Given the description of an element on the screen output the (x, y) to click on. 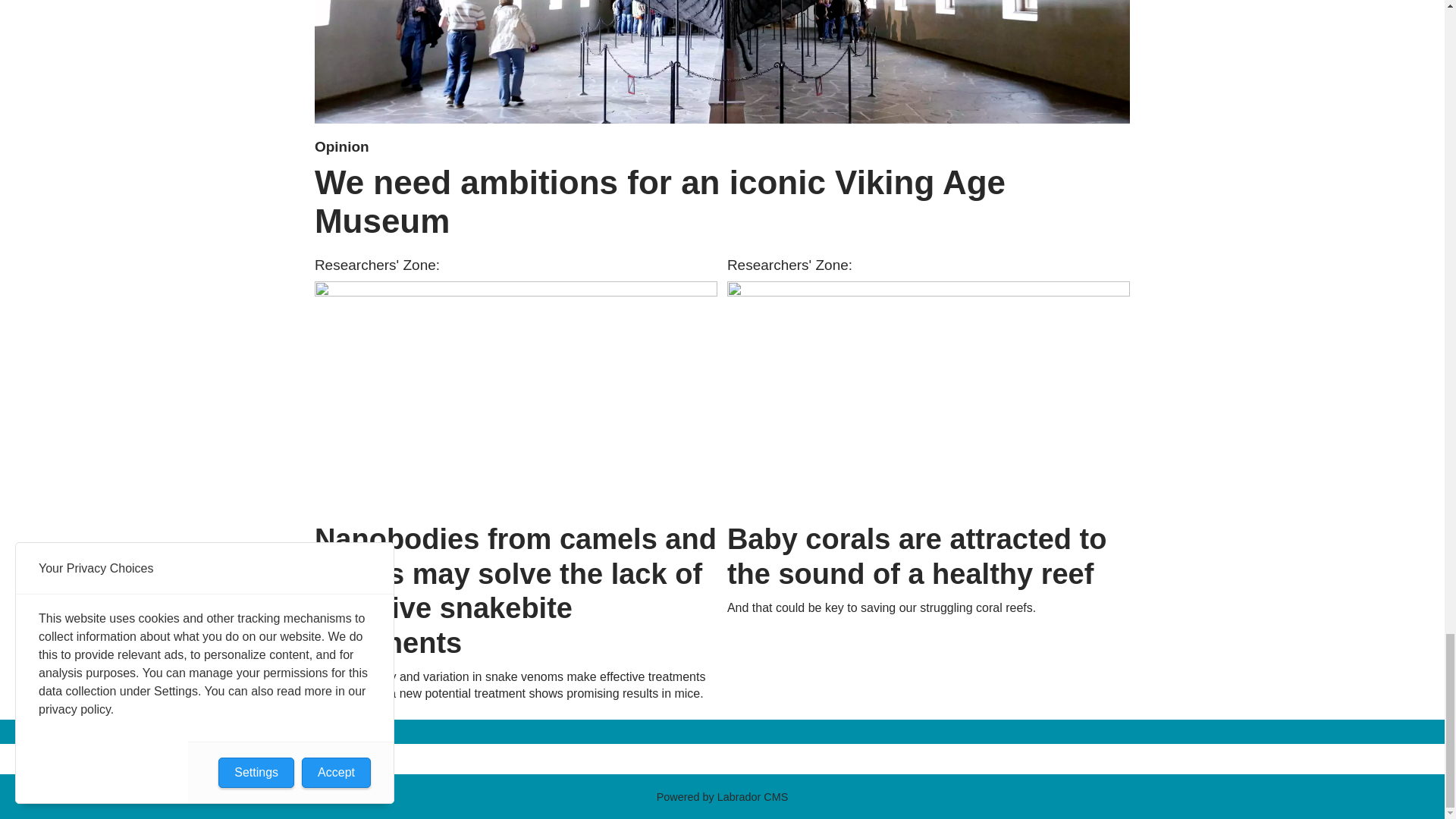
We need ambitions for an iconic Viking Age Museum (721, 61)
Baby corals are attracted to the sound of a healthy reef (927, 396)
